Given the description of an element on the screen output the (x, y) to click on. 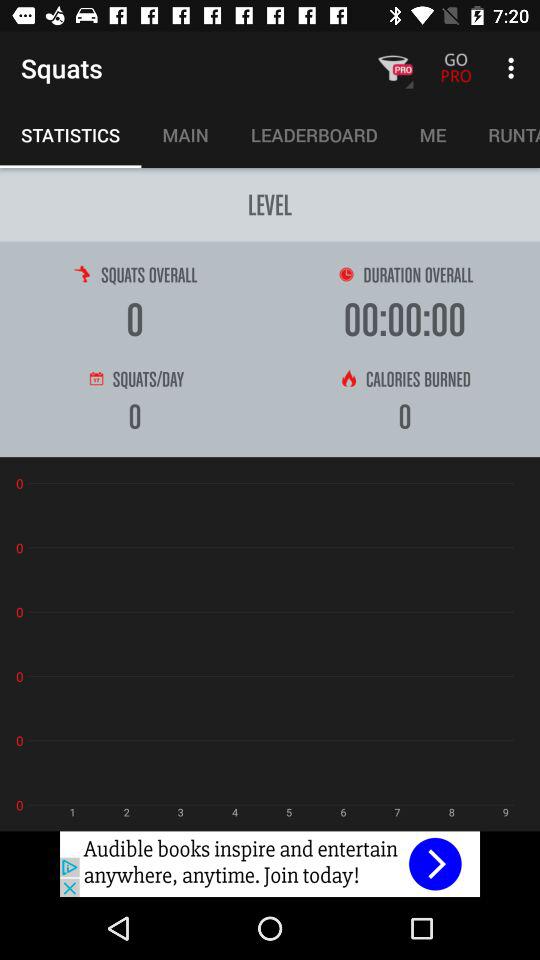
clcik the more option from the top right corner (514, 68)
select the button beside squats (392, 68)
